Given the description of an element on the screen output the (x, y) to click on. 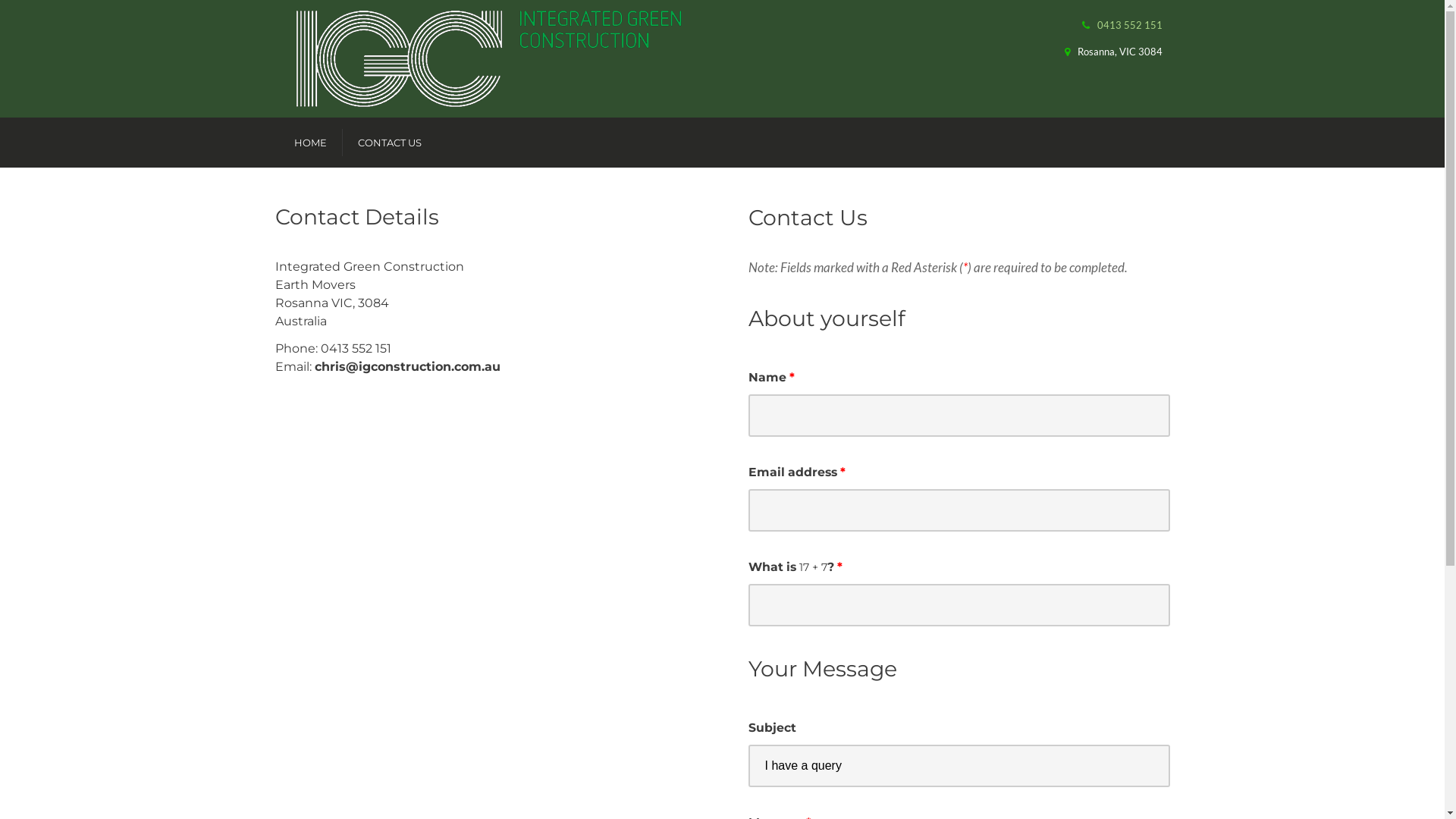
0413 552 151 Element type: text (1128, 24)
HOME Element type: text (310, 142)
CONTACT US Element type: text (389, 142)
chris@igconstruction.com.au Element type: text (406, 366)
Embedded Google map Element type: hover (425, 545)
